Given the description of an element on the screen output the (x, y) to click on. 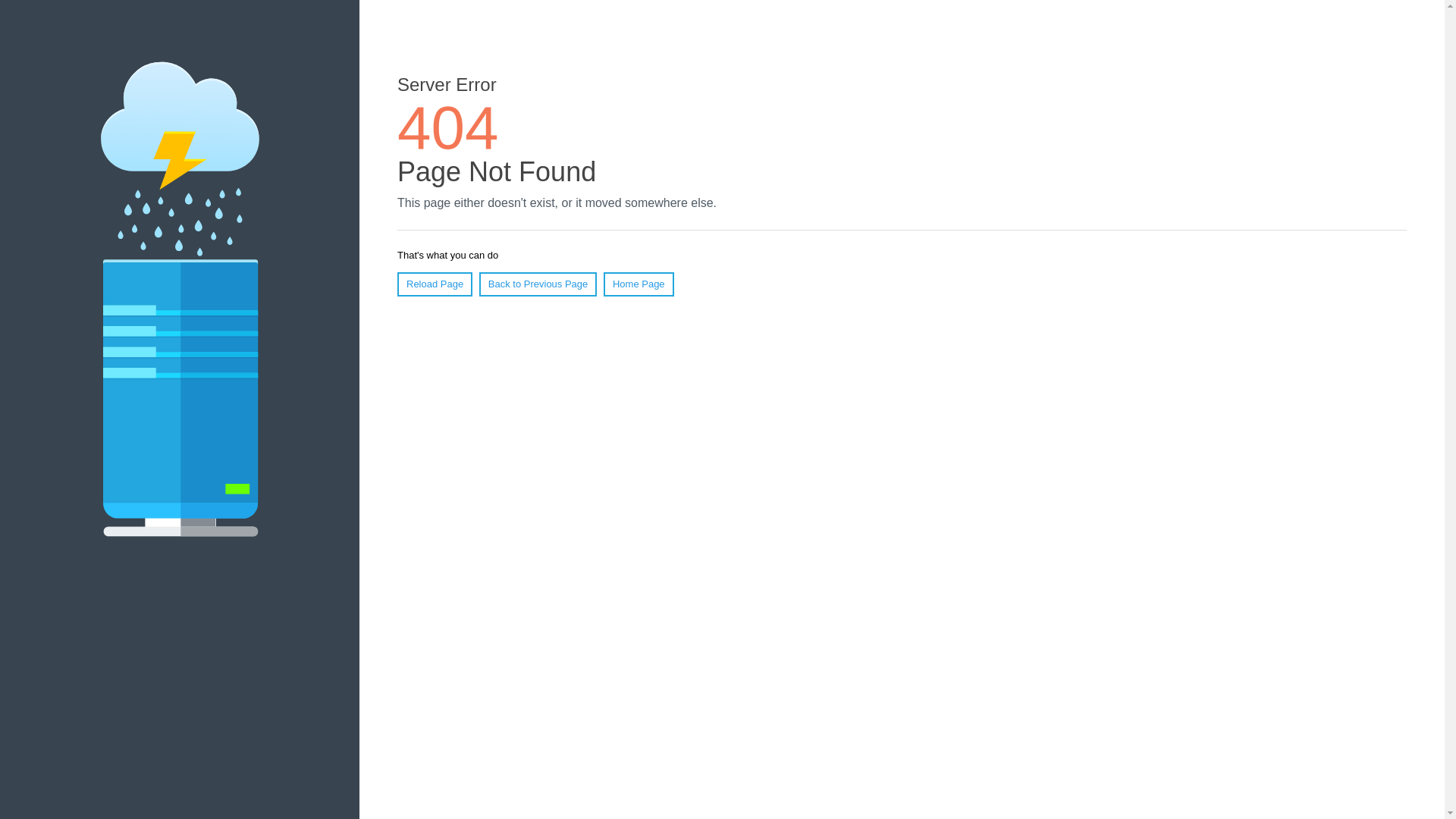
Back to Previous Page Element type: text (538, 284)
Home Page Element type: text (638, 284)
Reload Page Element type: text (434, 284)
